Given the description of an element on the screen output the (x, y) to click on. 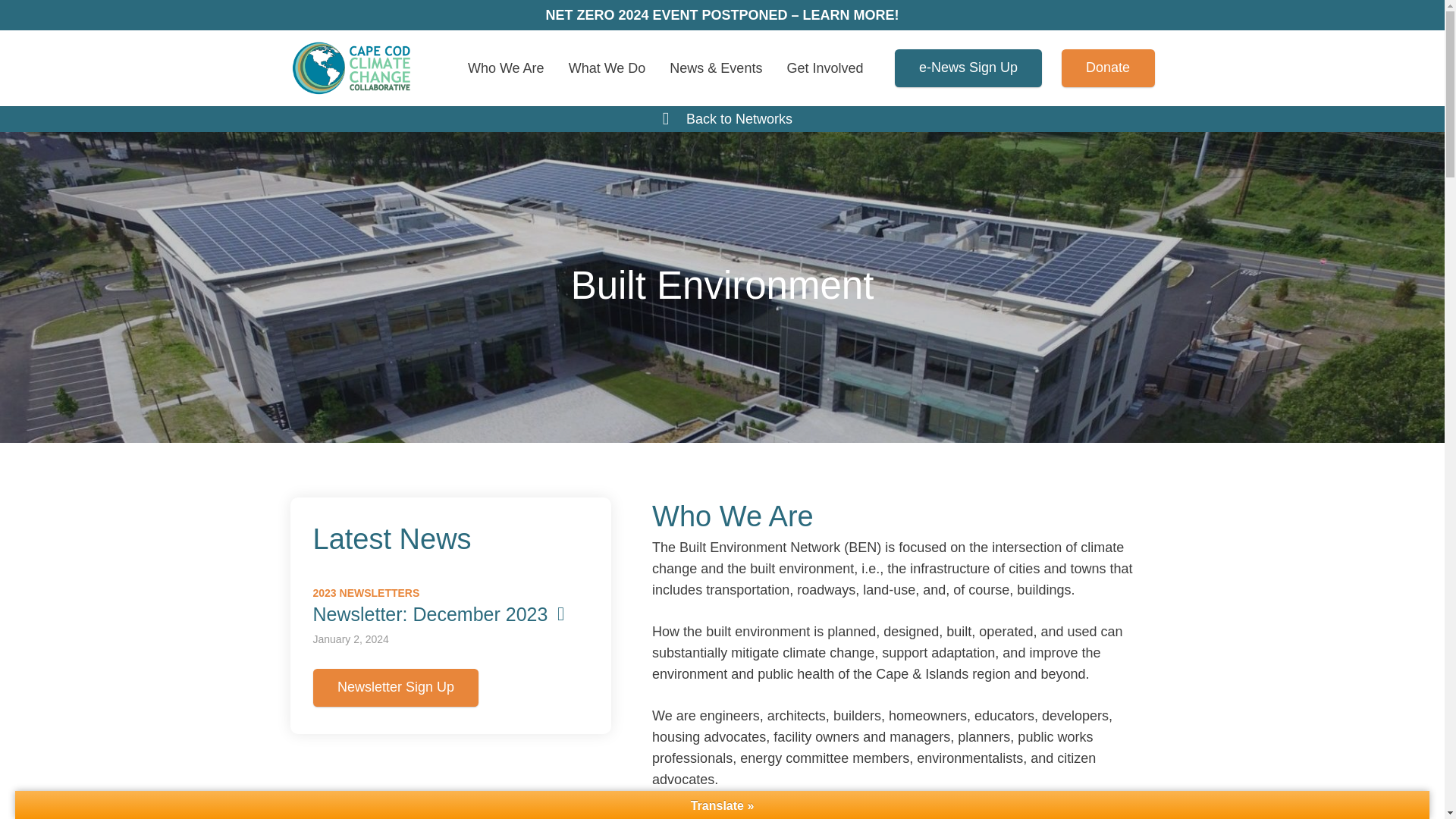
e-News Sign Up (968, 67)
Newsletter: December 2023 (443, 613)
Who We Are (505, 68)
Donate (1107, 67)
Back to Networks (738, 118)
Newsletter Sign Up (396, 687)
What We Do (607, 68)
Get Involved (824, 68)
